Given the description of an element on the screen output the (x, y) to click on. 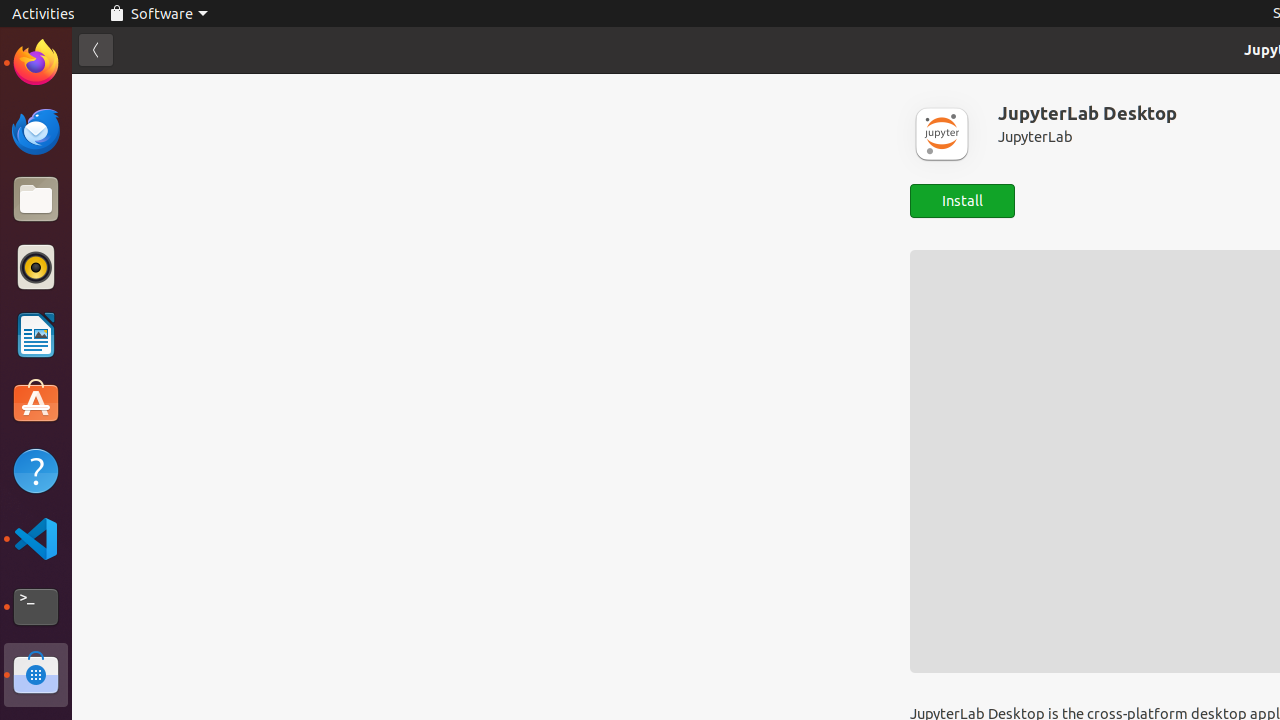
Software Element type: push-button (36, 675)
Software Element type: menu (158, 13)
Install Element type: push-button (962, 200)
